Given the description of an element on the screen output the (x, y) to click on. 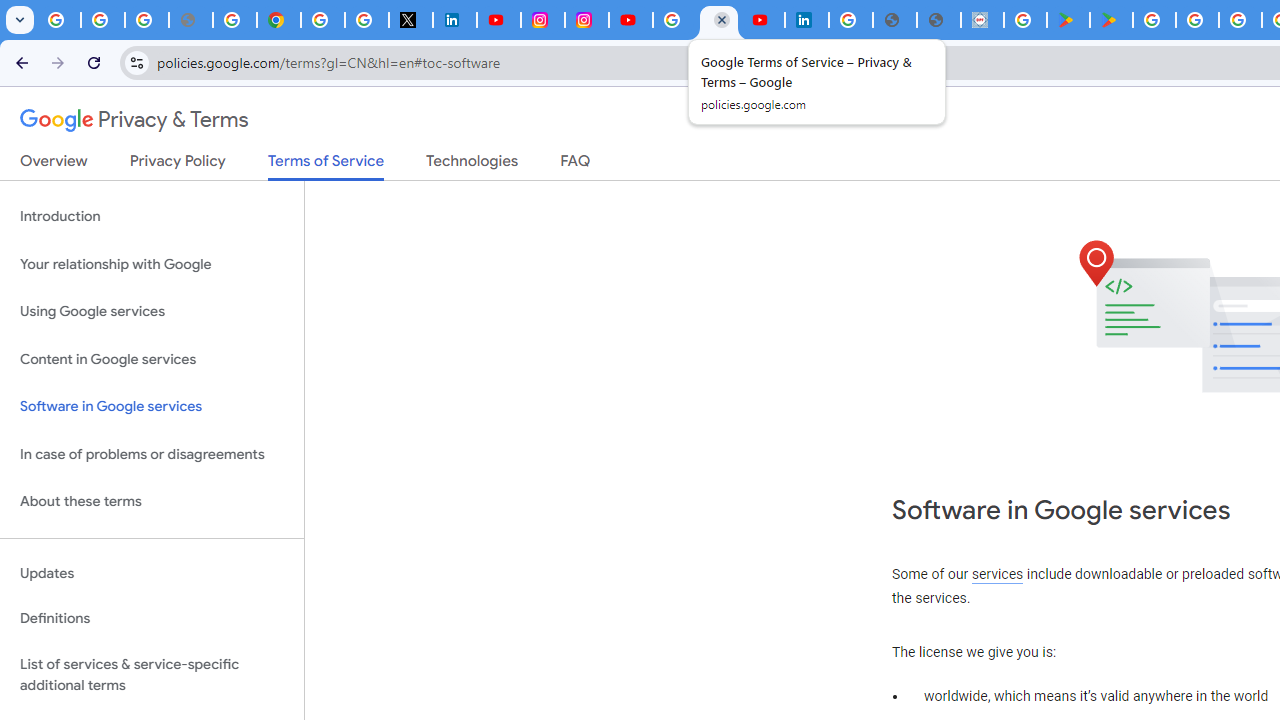
Data Privacy Framework (982, 20)
Sign in - Google Accounts (322, 20)
X (410, 20)
